Given the description of an element on the screen output the (x, y) to click on. 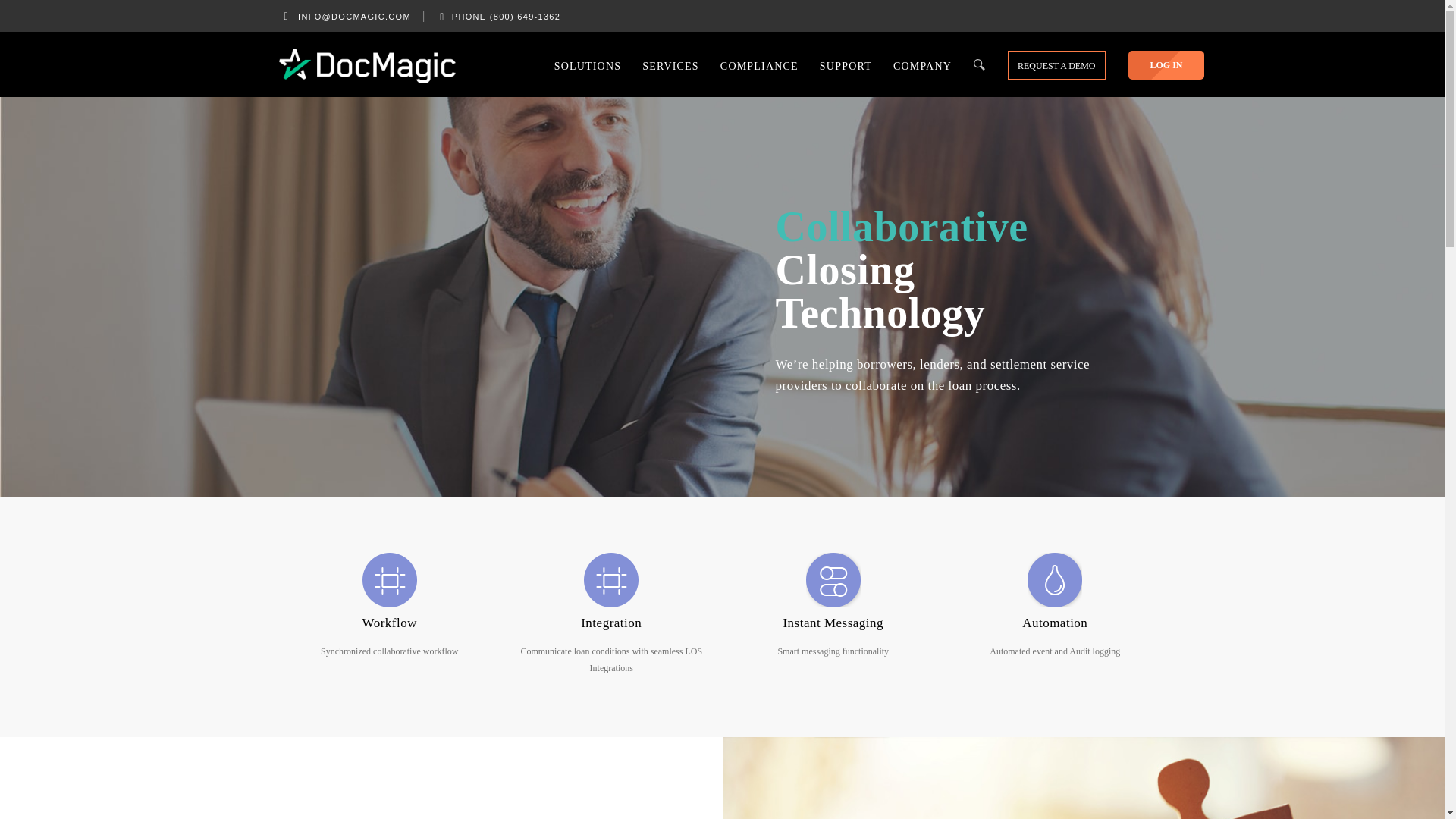
SOLUTIONS (587, 64)
Home (367, 65)
SERVICES (670, 64)
